Given the description of an element on the screen output the (x, y) to click on. 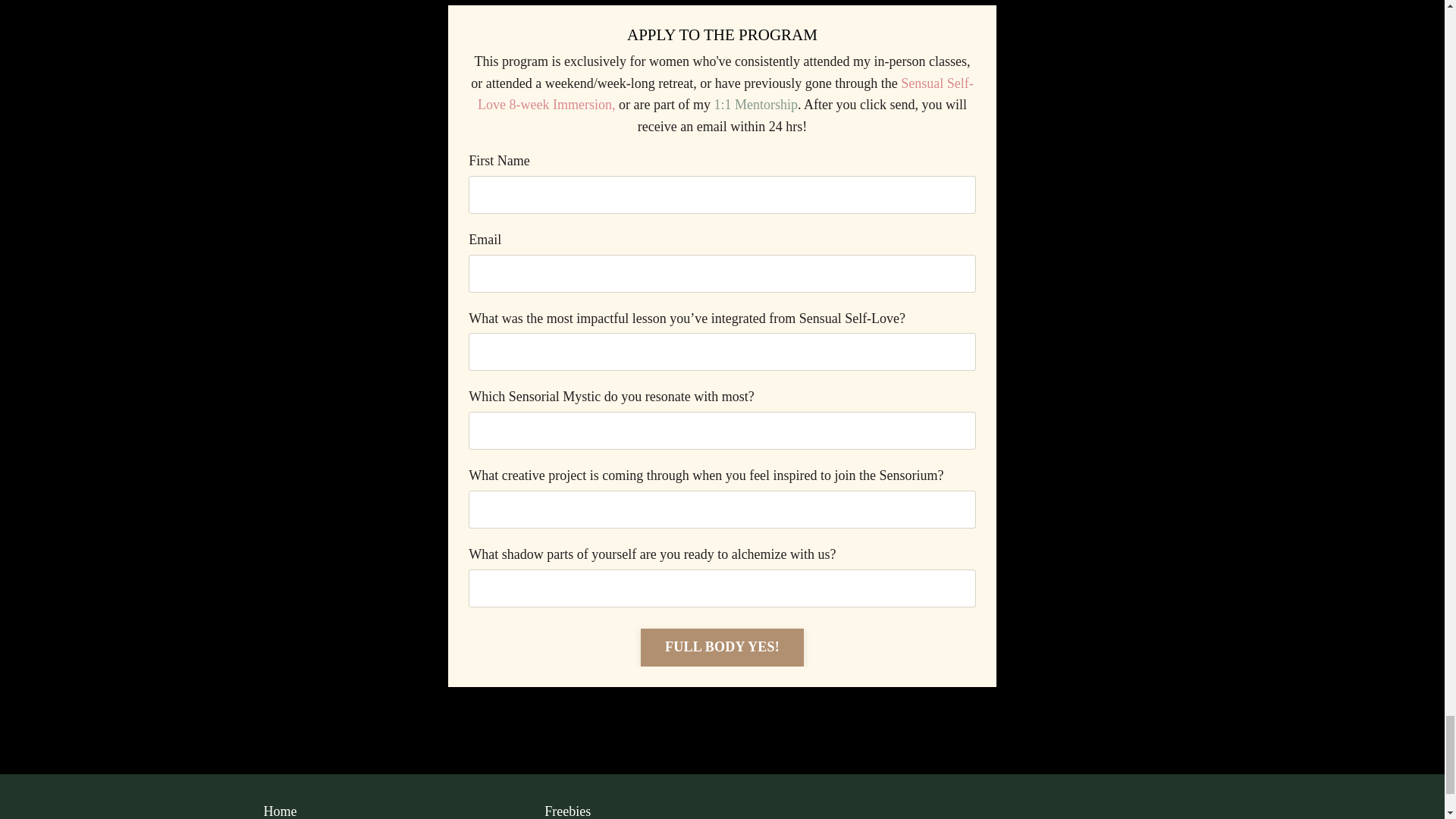
Freebies (665, 809)
Sensual Self-Love 8-week Immersion (725, 94)
Home (384, 809)
1:1 Mentorship (755, 104)
FULL BODY YES! (721, 647)
